Given the description of an element on the screen output the (x, y) to click on. 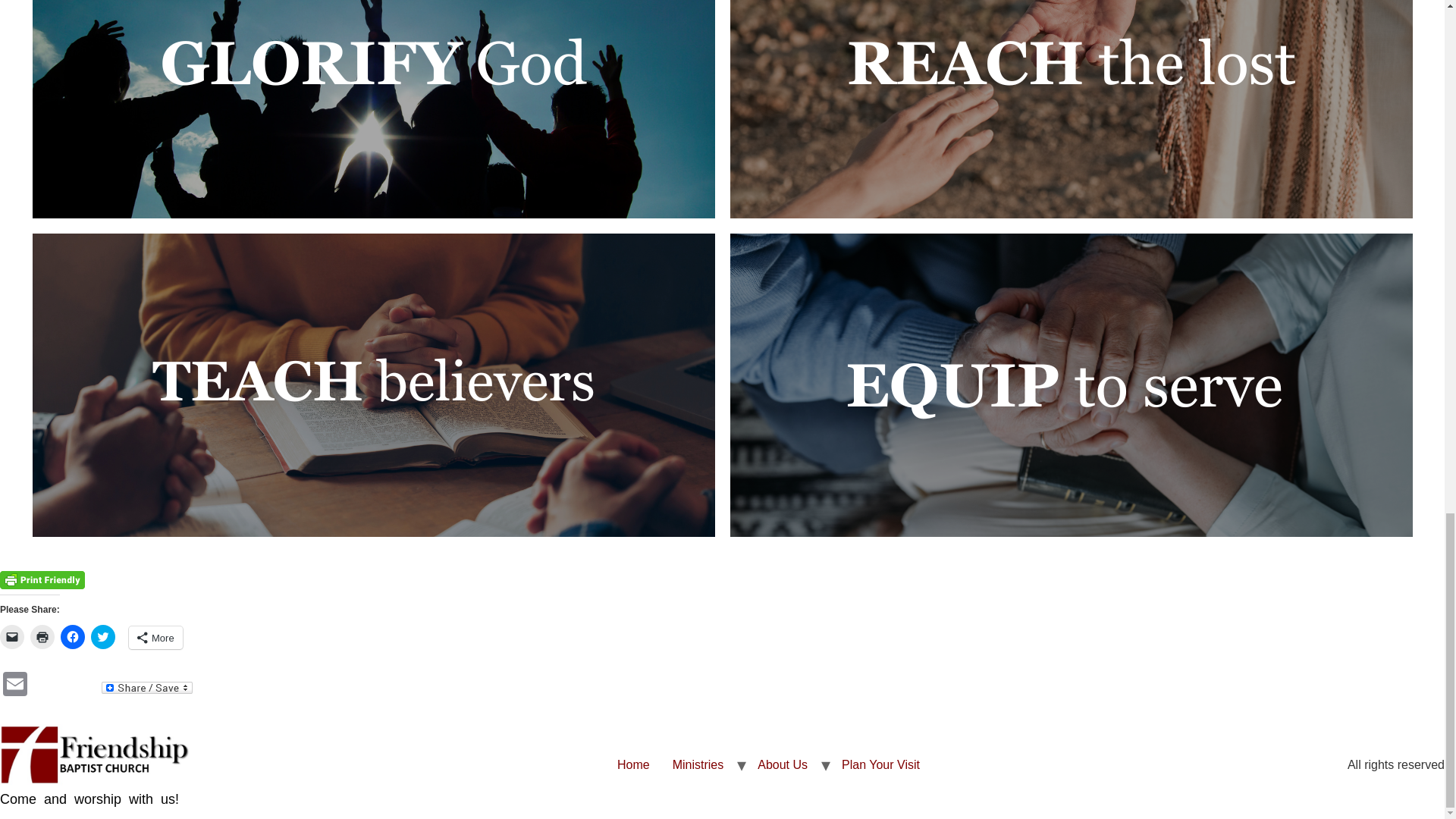
Click to share on Facebook (72, 636)
Click to print (42, 636)
Click to email a link to a friend (12, 636)
More (156, 637)
Email (15, 685)
Click to share on Twitter (102, 636)
